Given the description of an element on the screen output the (x, y) to click on. 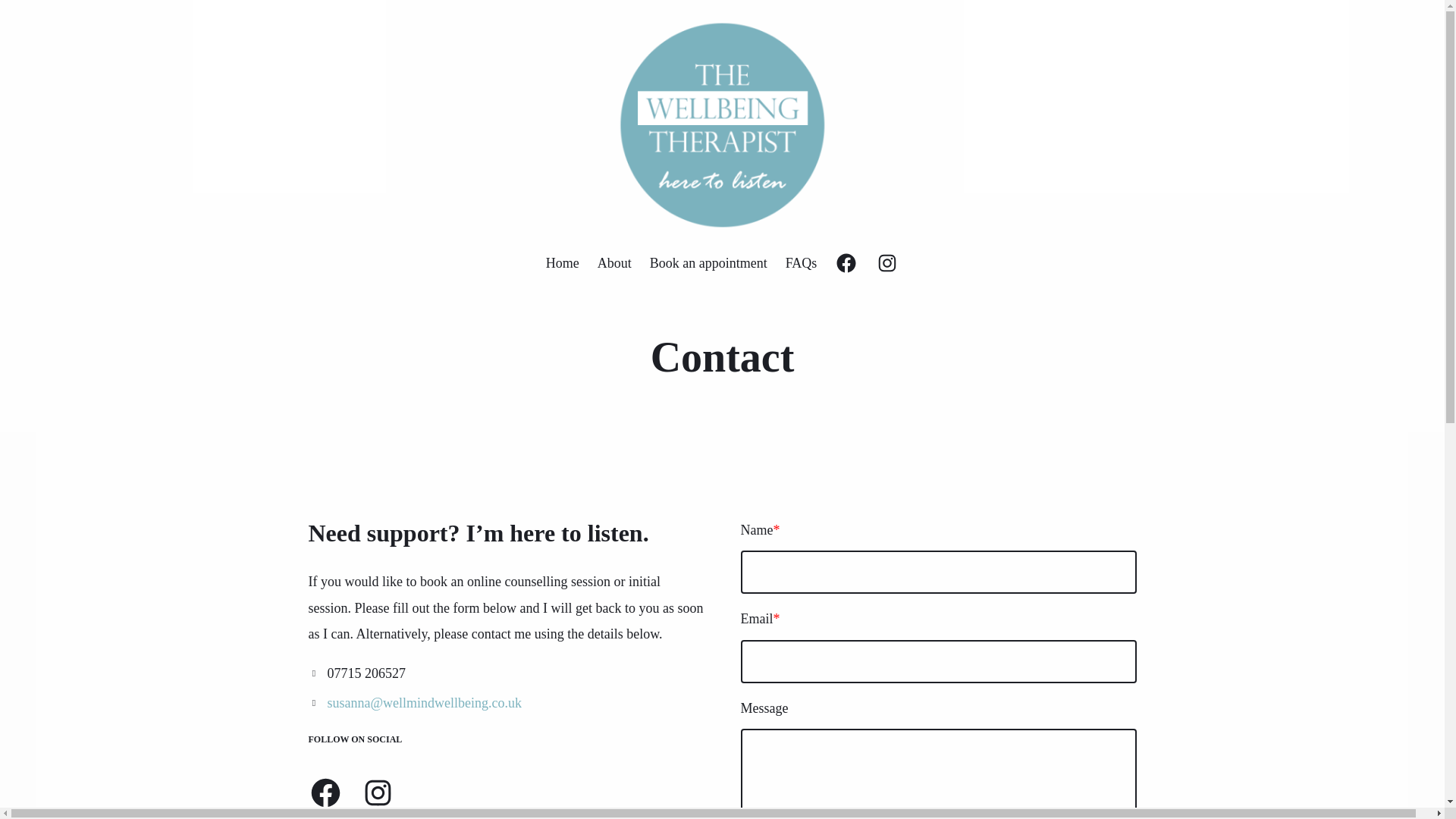
Facebook (324, 792)
Book an appointment (708, 263)
Instagram (887, 262)
Instagram (377, 792)
Home (562, 263)
Facebook (845, 262)
FAQs (801, 263)
About (613, 263)
